Given the description of an element on the screen output the (x, y) to click on. 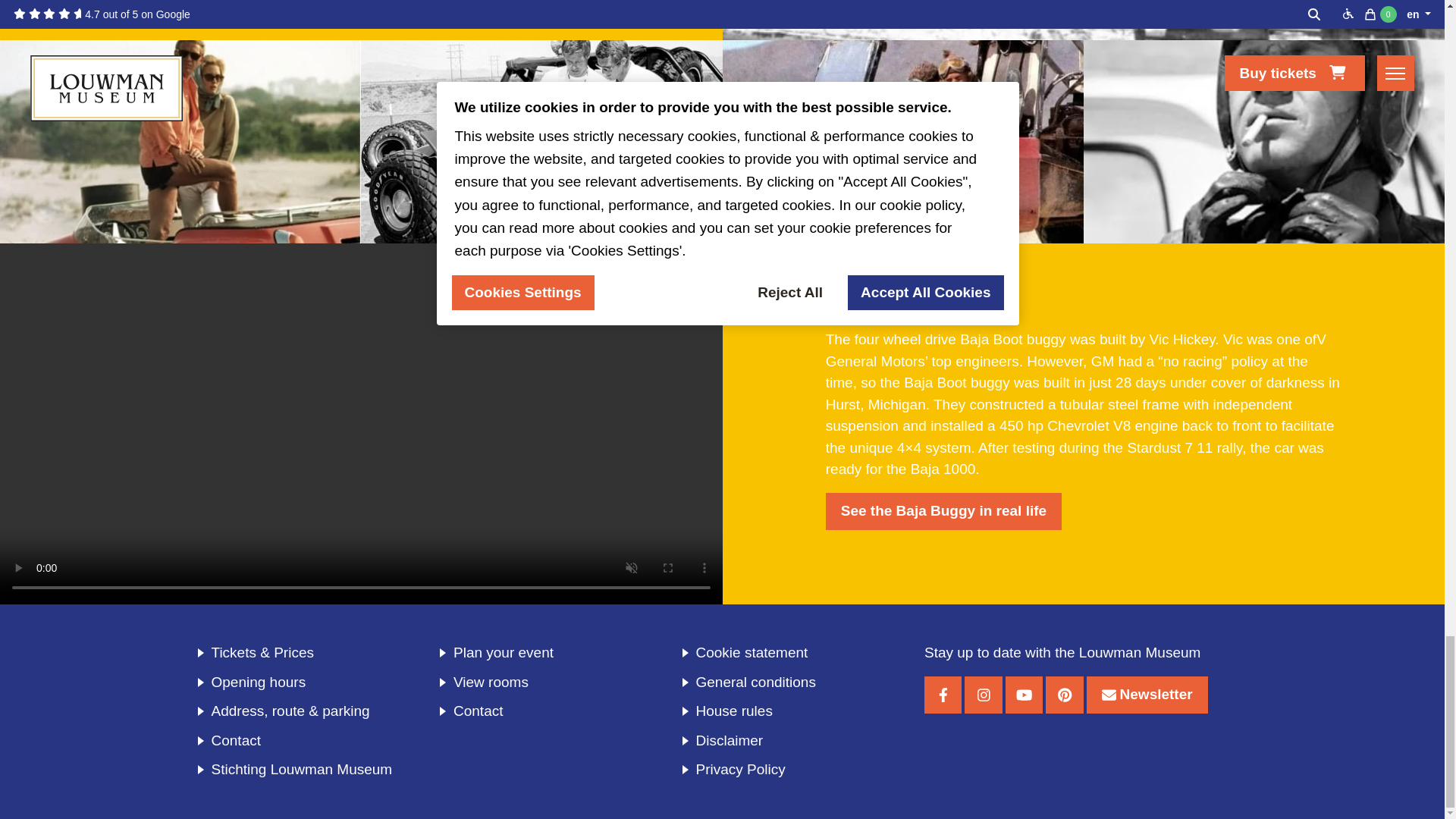
See the Baja Buggy in real life (943, 511)
